Given the description of an element on the screen output the (x, y) to click on. 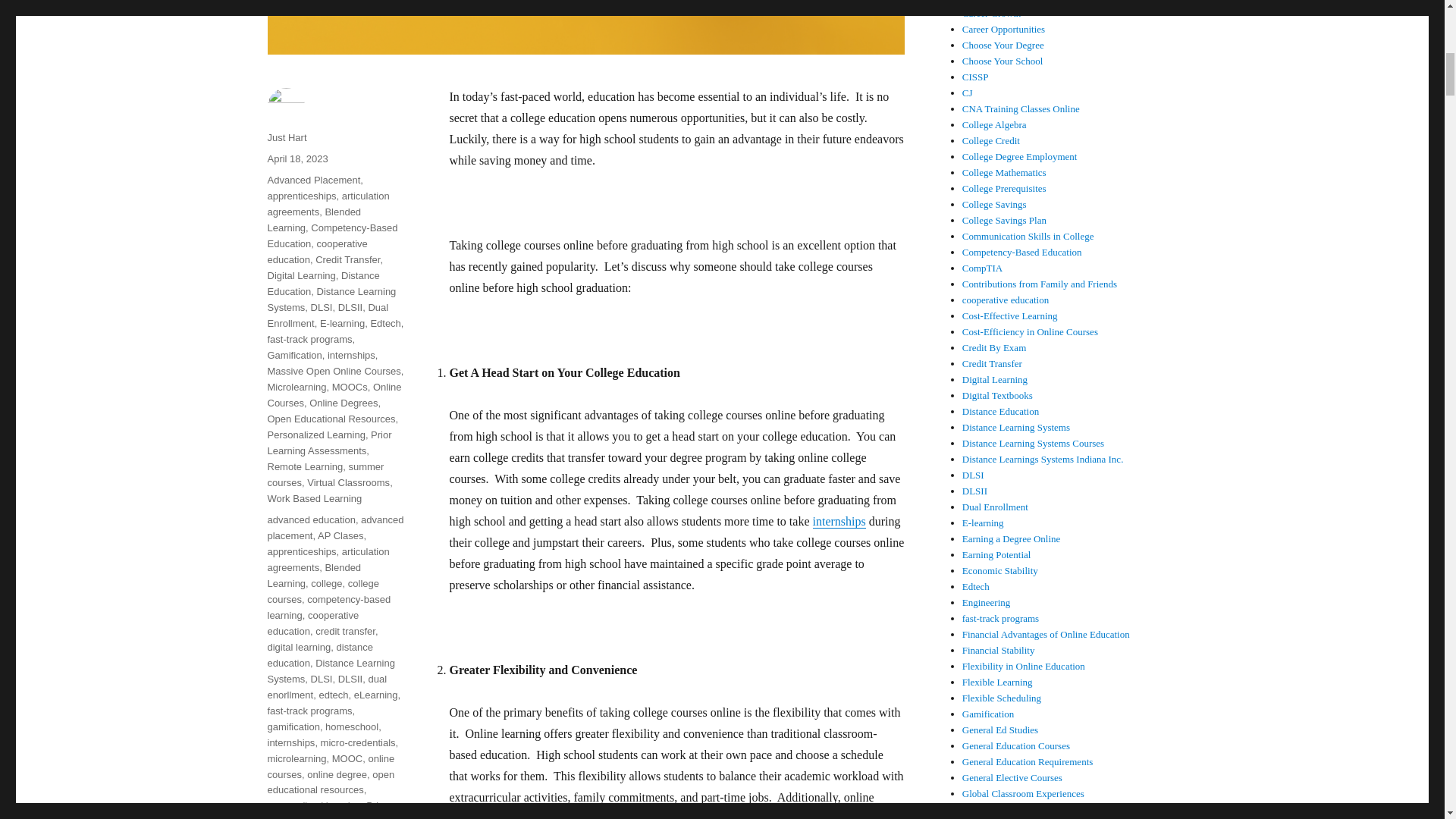
Blended Learning (313, 219)
April 18, 2023 (296, 158)
Distance Learning Systems (331, 298)
Open Educational Resources (330, 419)
apprenticeships (301, 195)
E-learning (342, 323)
Dual Enrollment (327, 315)
Gamification (293, 355)
Edtech (384, 323)
Online Degrees (342, 402)
DLSI (322, 307)
fast-track programs (309, 338)
MOOCs (349, 387)
Advanced Placement (312, 179)
Distance Education (322, 283)
